Given the description of an element on the screen output the (x, y) to click on. 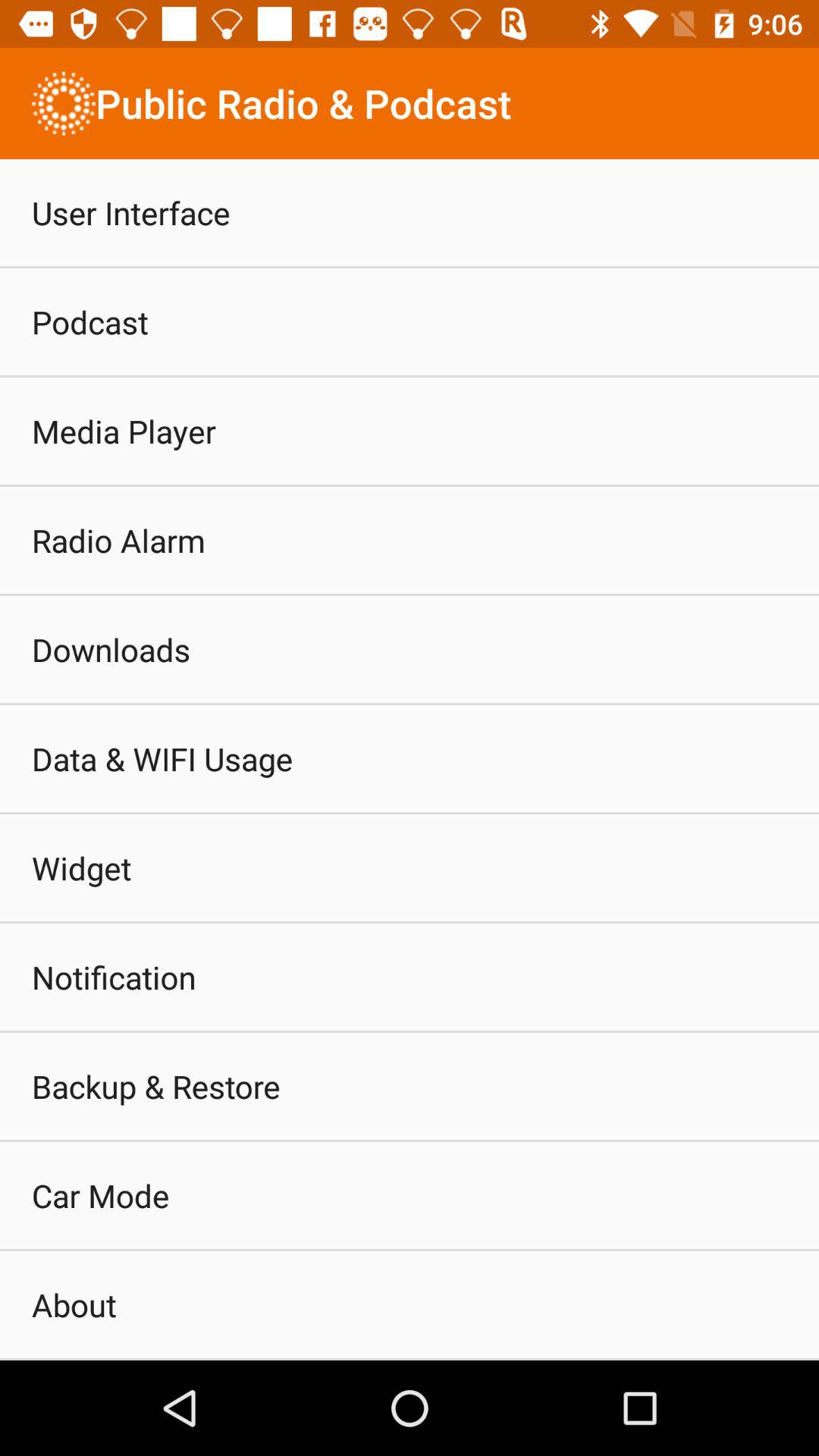
turn on item above the podcast app (130, 212)
